Given the description of an element on the screen output the (x, y) to click on. 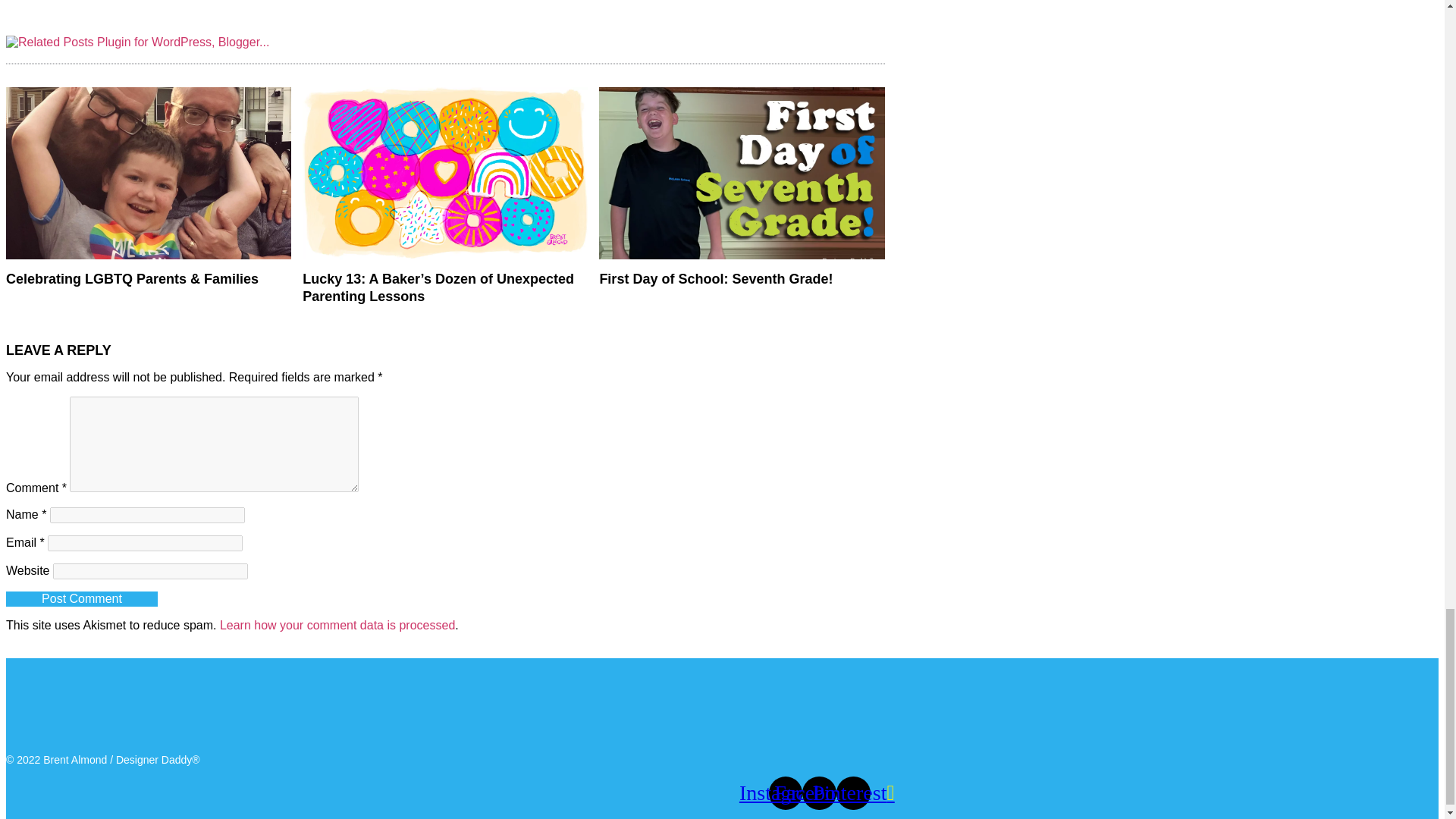
Post Comment (81, 598)
